Given the description of an element on the screen output the (x, y) to click on. 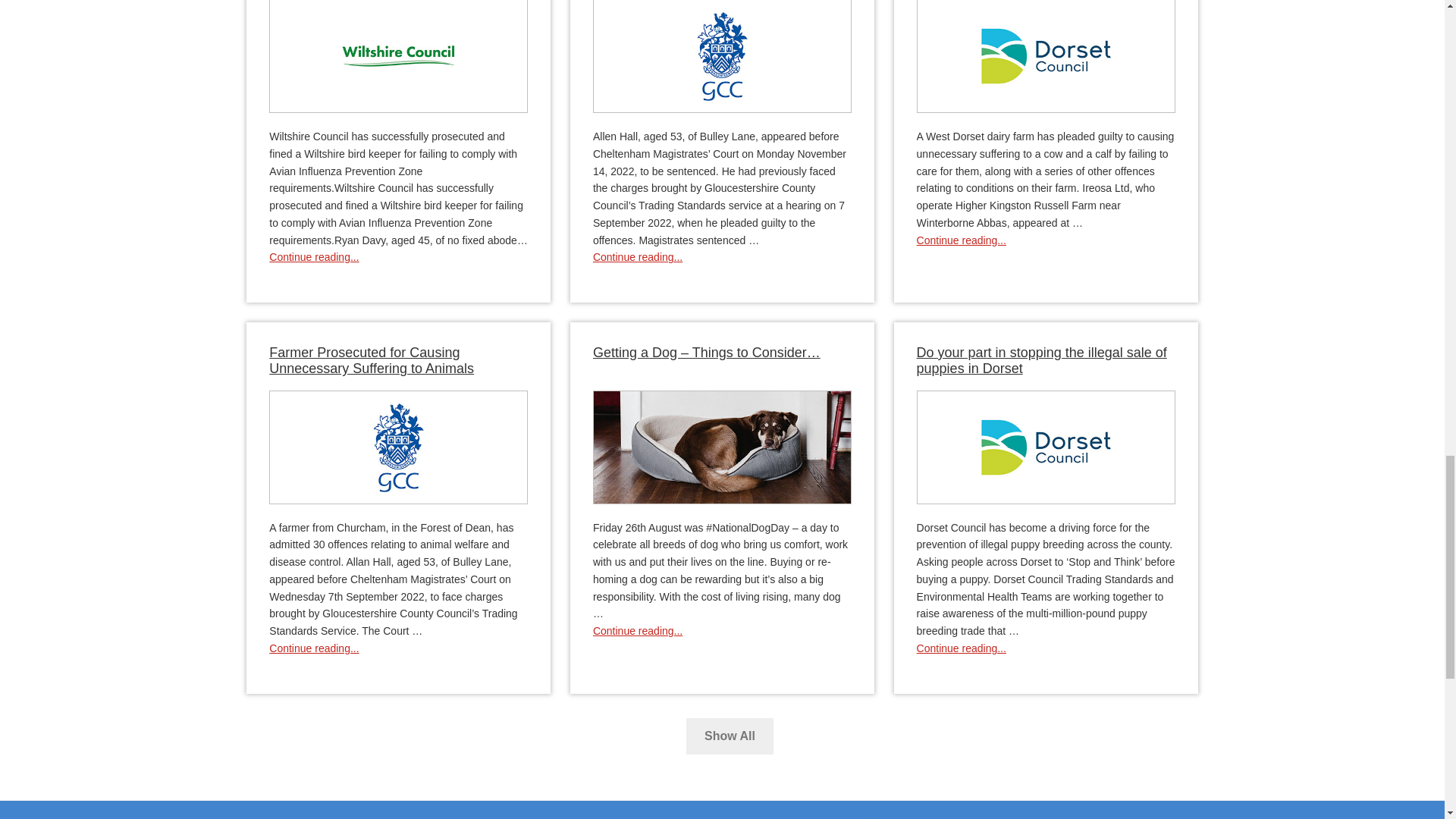
Continue reading... (637, 256)
Continue reading... (313, 256)
